Given the description of an element on the screen output the (x, y) to click on. 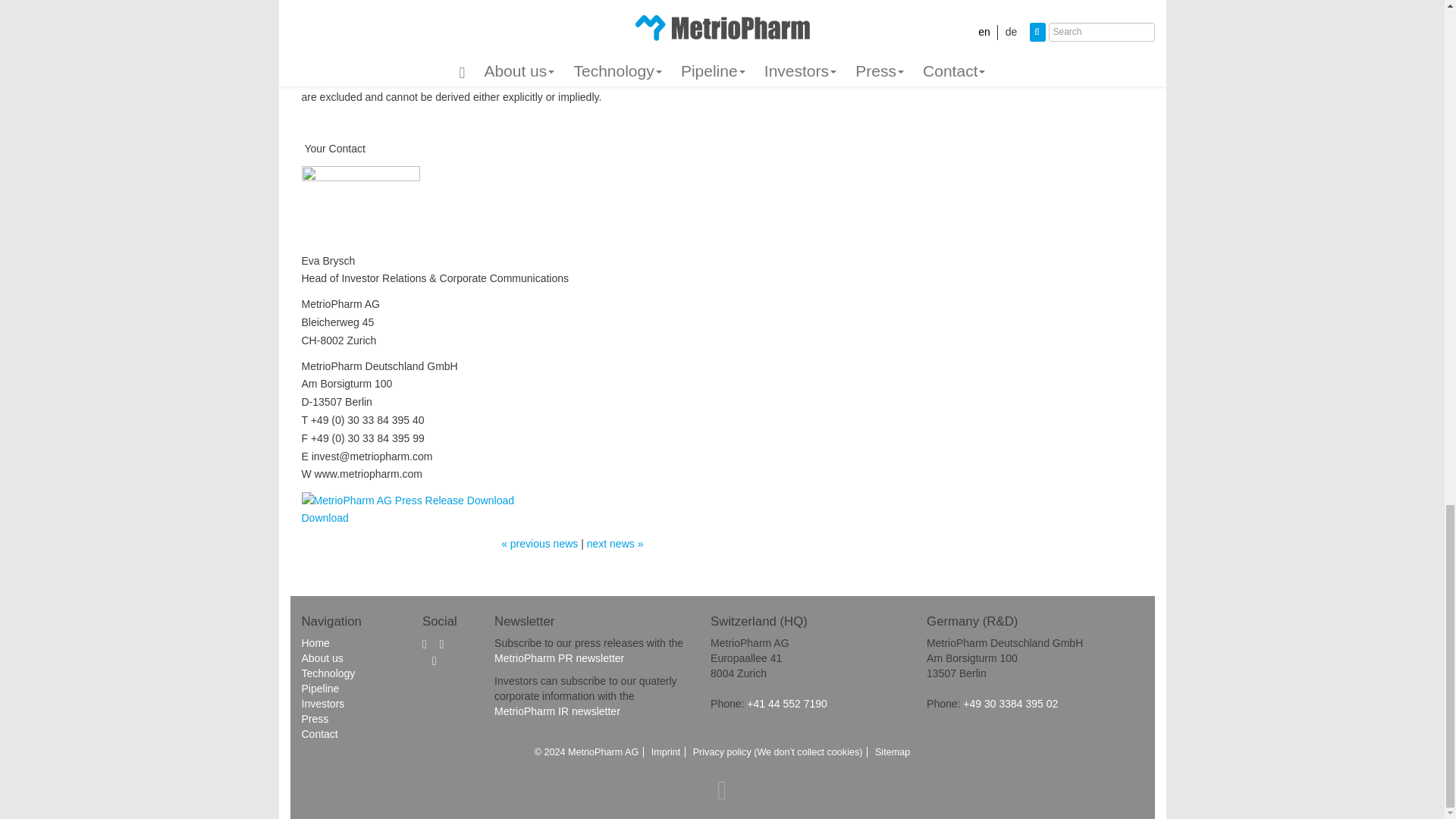
MetrioPharm AG Press Release Download (408, 501)
Download (408, 508)
MetrioPharm AG Website: Sitemap (892, 751)
